Given the description of an element on the screen output the (x, y) to click on. 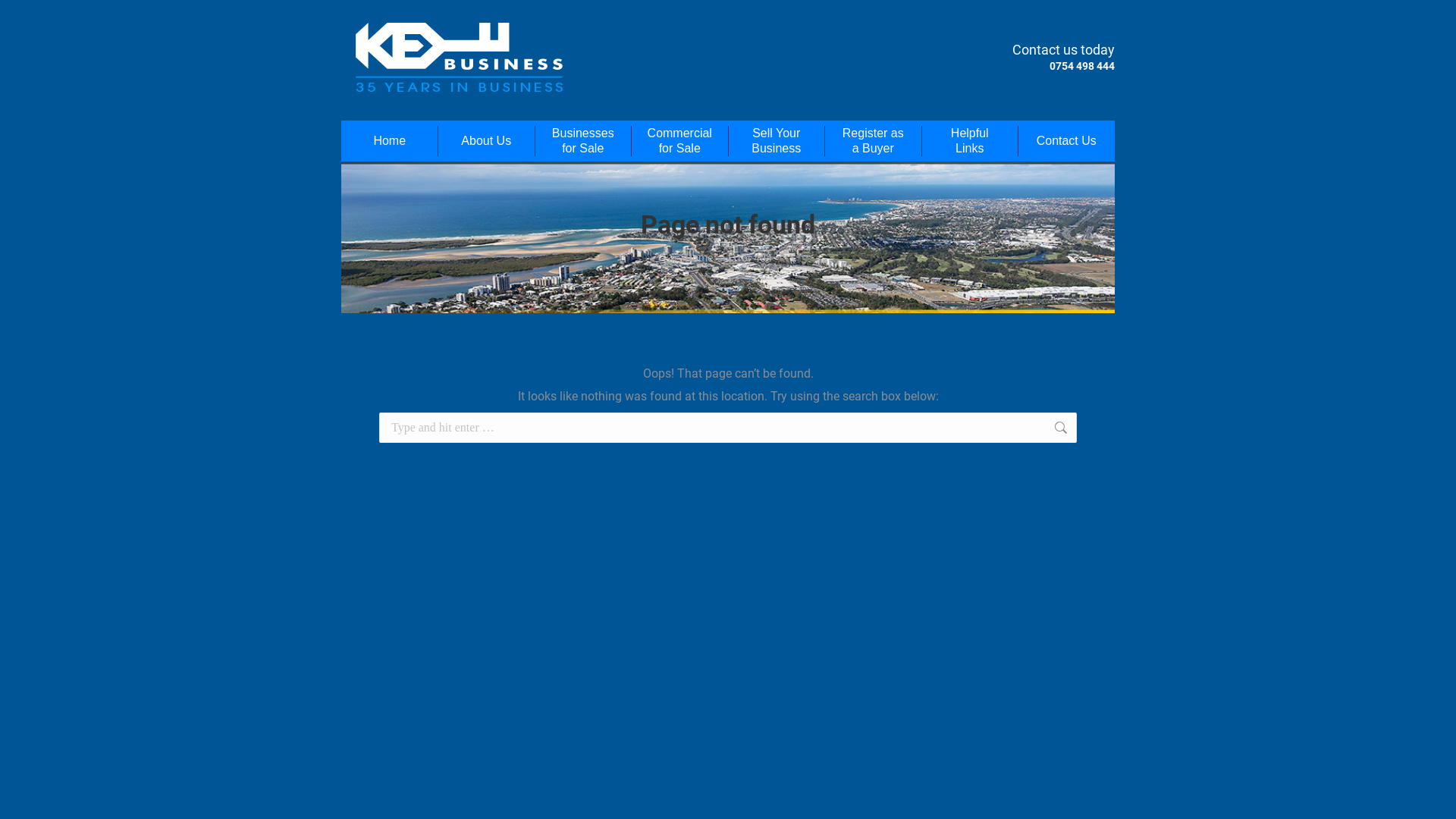
Go! Element type: text (1101, 429)
Commercial for Sale Element type: text (679, 140)
Helpful Links Element type: text (969, 140)
Home Element type: text (698, 257)
Sell Your Business Element type: text (776, 140)
Register as a Buyer Element type: text (873, 140)
Contact Us Element type: text (1065, 140)
About Us Element type: text (486, 140)
Businesses for Sale Element type: text (582, 140)
Home Element type: text (389, 140)
